Given the description of an element on the screen output the (x, y) to click on. 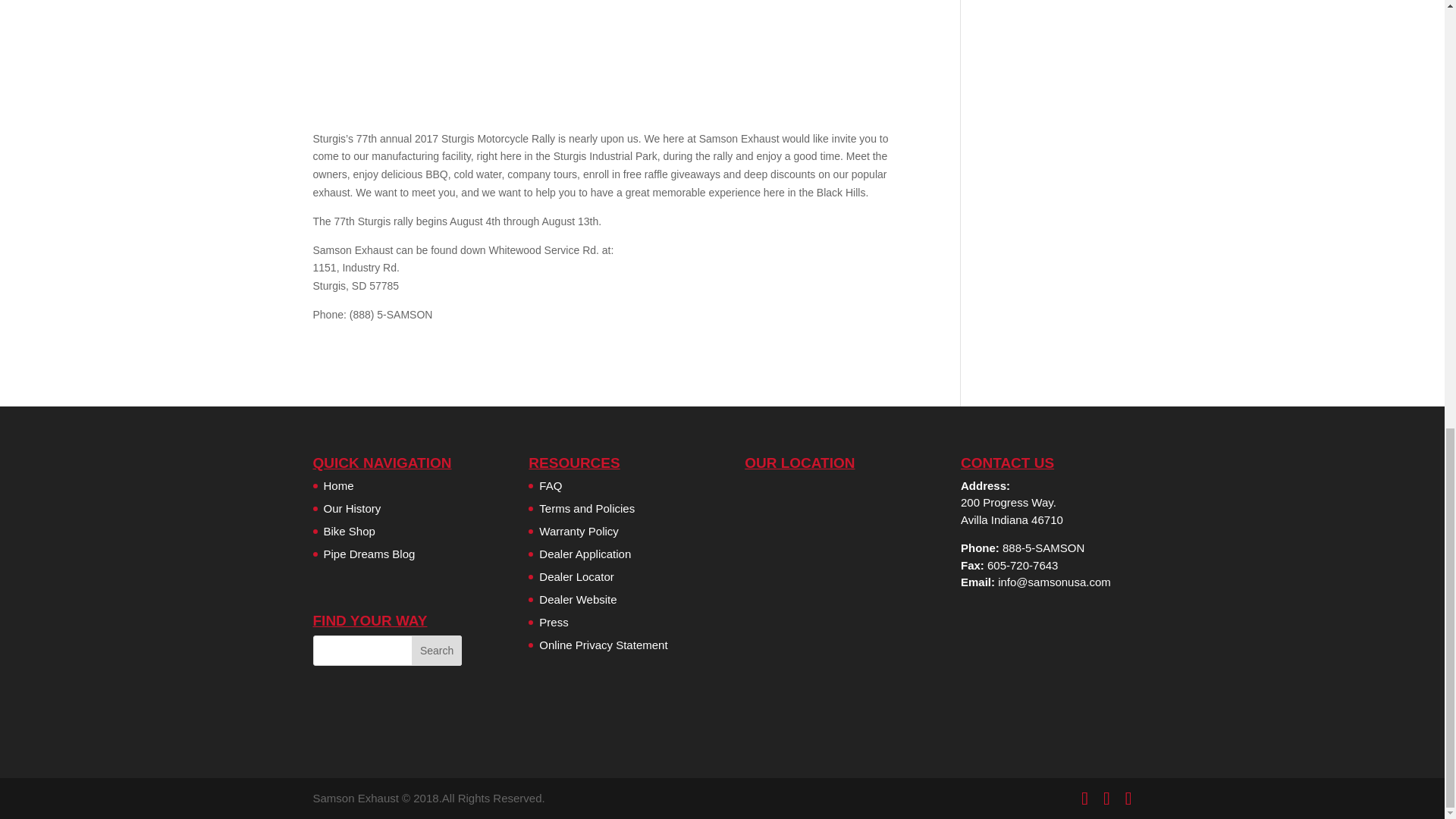
Search (436, 650)
Home (338, 485)
Pipe Dreams Blog (368, 553)
Our History (351, 508)
Terms and Policies (586, 508)
Bike Shop (348, 530)
FAQ (550, 485)
Search (436, 650)
